Given the description of an element on the screen output the (x, y) to click on. 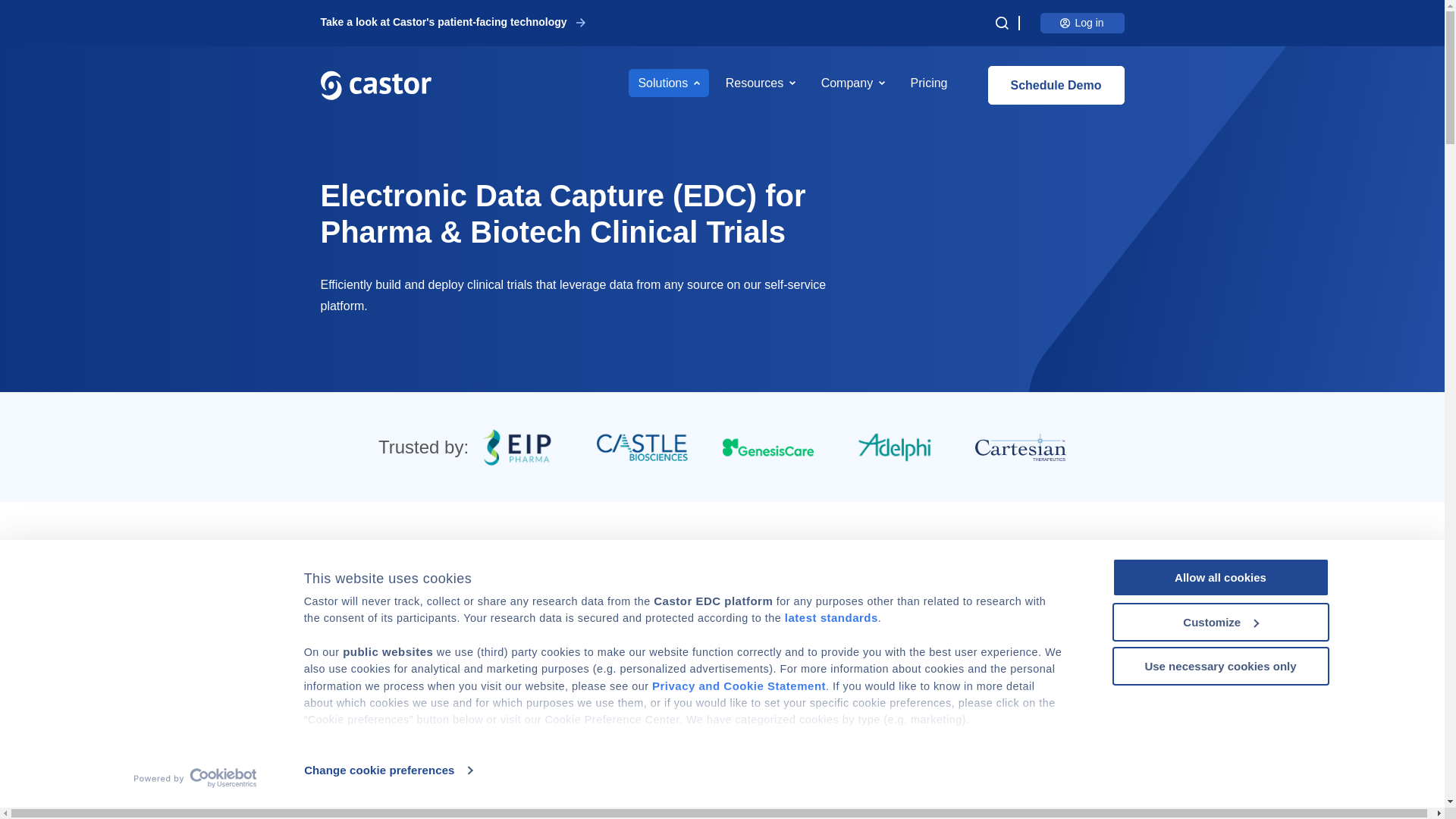
Privacy and Cookie Statement (738, 685)
Change cookie preferences (387, 770)
latest standards (830, 617)
Cookie Preference Center (860, 753)
